Given the description of an element on the screen output the (x, y) to click on. 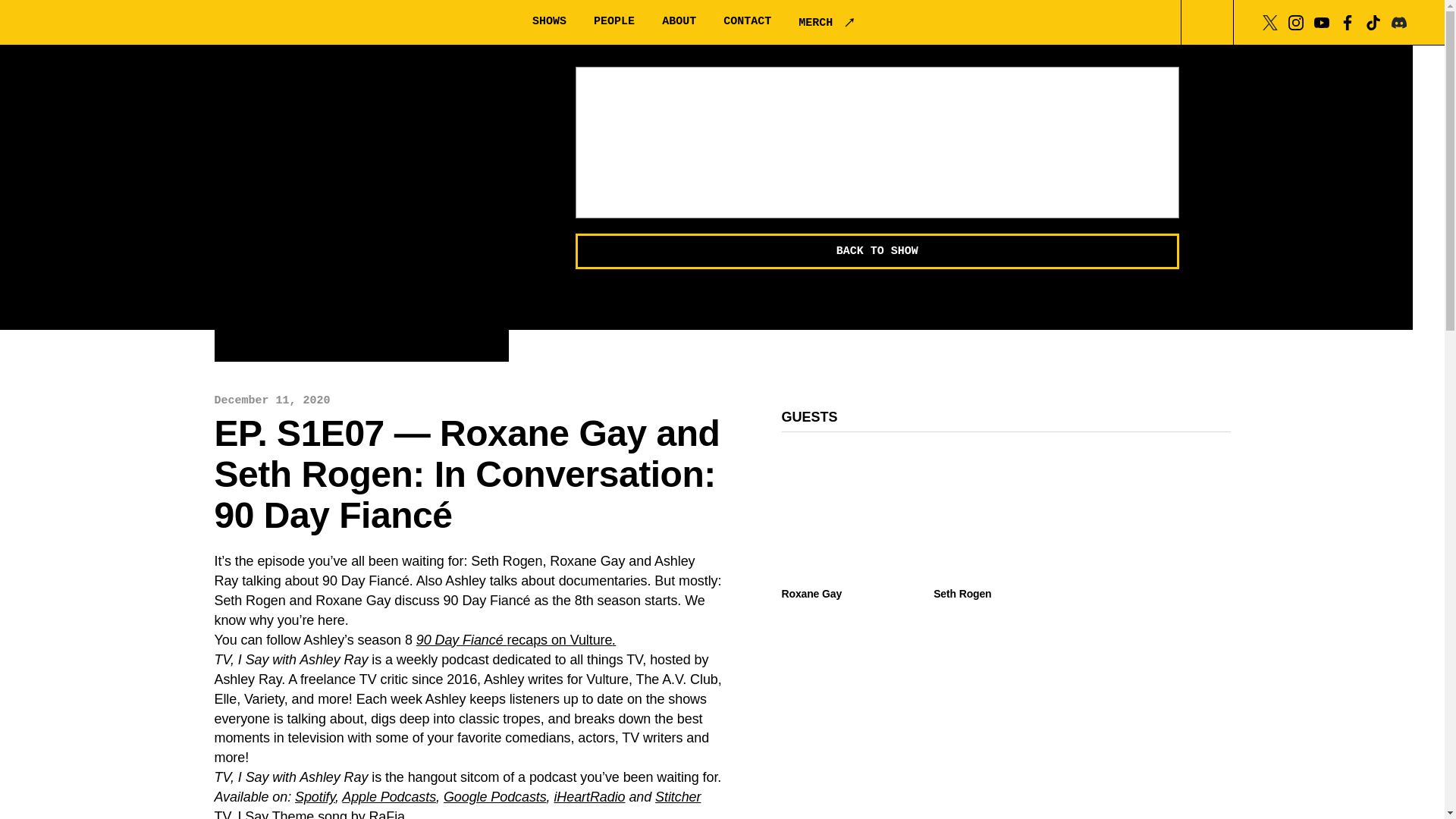
Tiktok (1372, 21)
Google Podcasts (495, 796)
PEOPLE (614, 21)
SHOWS (549, 21)
ABOUT (678, 21)
Instagram (1295, 21)
BACK TO SHOW (876, 251)
Earwolf (118, 22)
Stitcher (677, 796)
CONTACT (747, 21)
Apple Podcasts (388, 796)
Spotify (314, 796)
Facebook (1347, 21)
RaFia (386, 814)
Toggle Search (1206, 22)
